Given the description of an element on the screen output the (x, y) to click on. 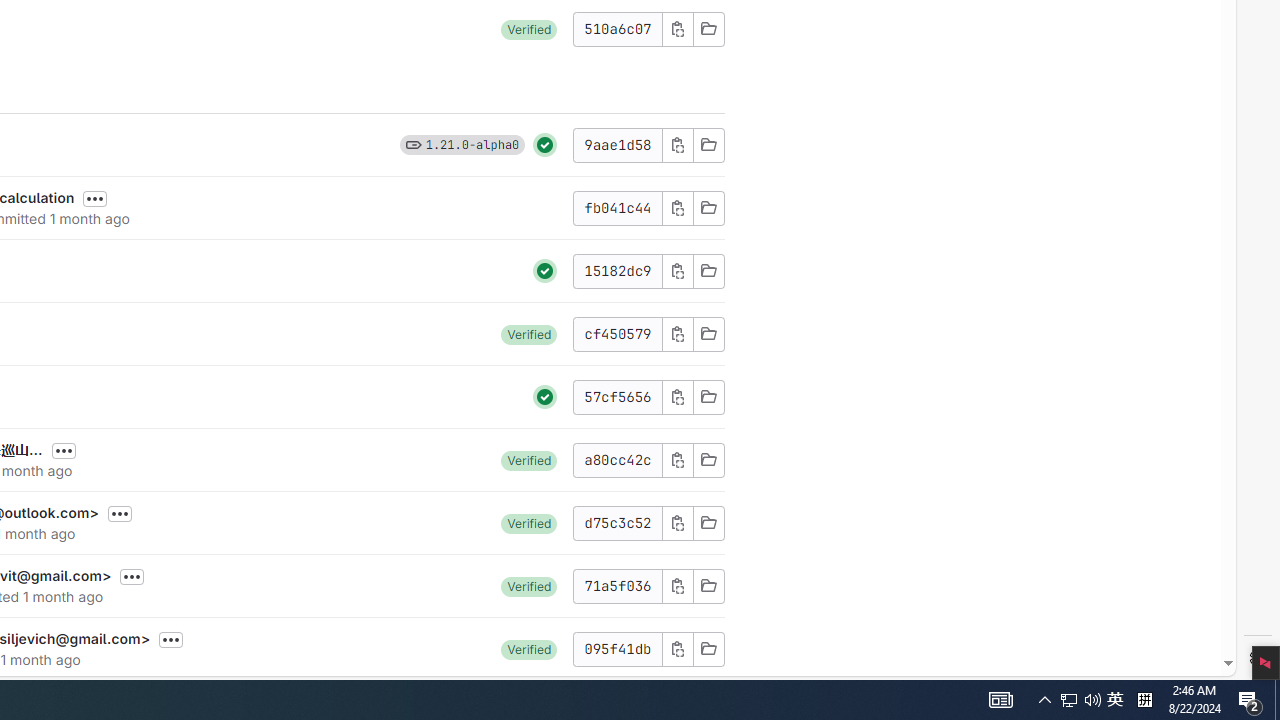
Class: s16 gl-icon gl-button-icon  (677, 648)
Pipeline: passed (545, 396)
Browse Files (708, 648)
Class: s24 gl-icon (545, 396)
Class: s16 gl-icon gl-badge-icon (413, 144)
Copy commit SHA (676, 648)
Class: s16 (708, 648)
Settings (1258, 658)
1.21.0-alpha0 (471, 144)
Toggle commit description (171, 640)
Verified (529, 648)
